Given the description of an element on the screen output the (x, y) to click on. 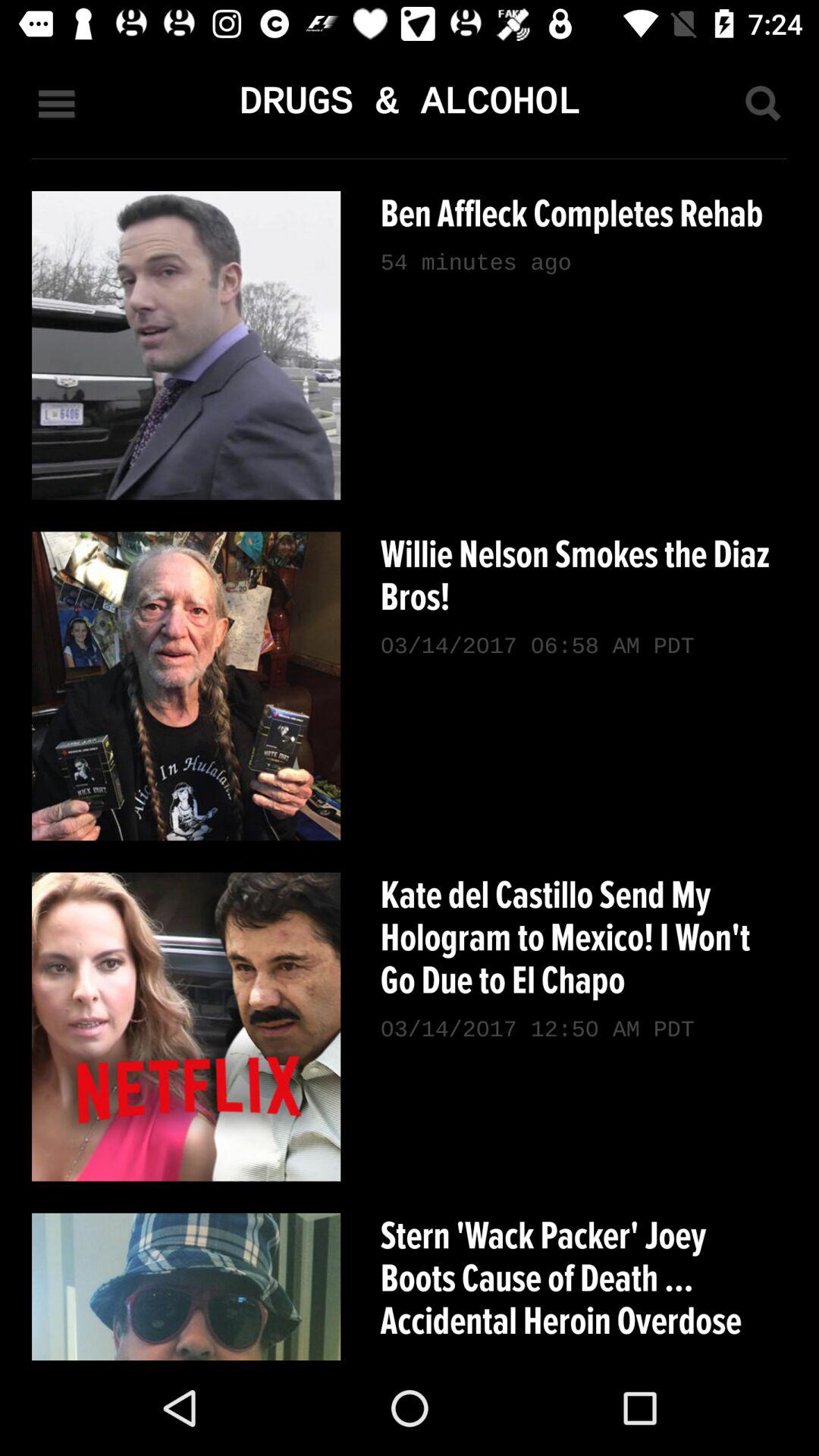
starts search (762, 103)
